Given the description of an element on the screen output the (x, y) to click on. 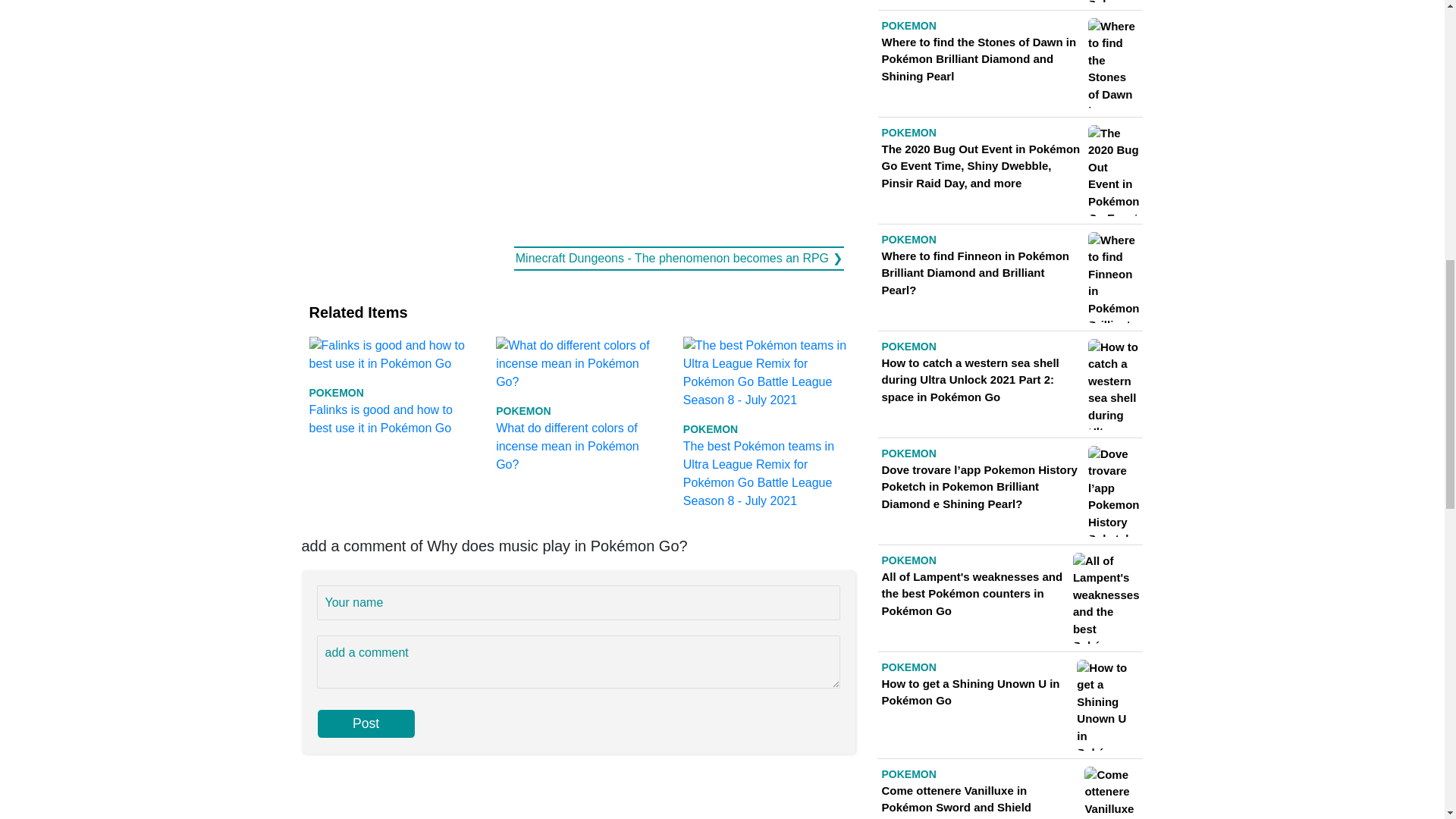
Post (365, 723)
